Given the description of an element on the screen output the (x, y) to click on. 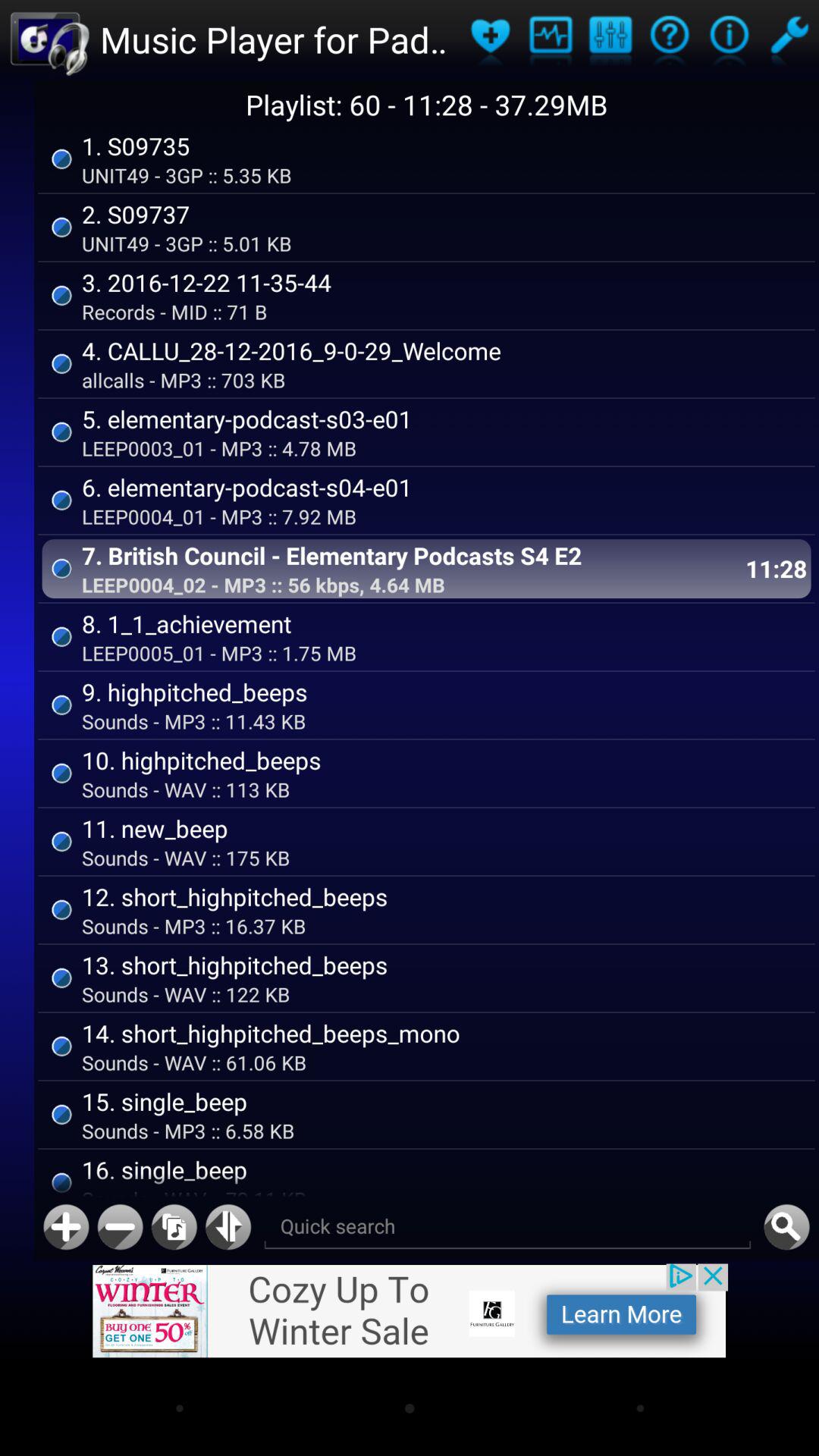
add image icon (409, 1310)
